Given the description of an element on the screen output the (x, y) to click on. 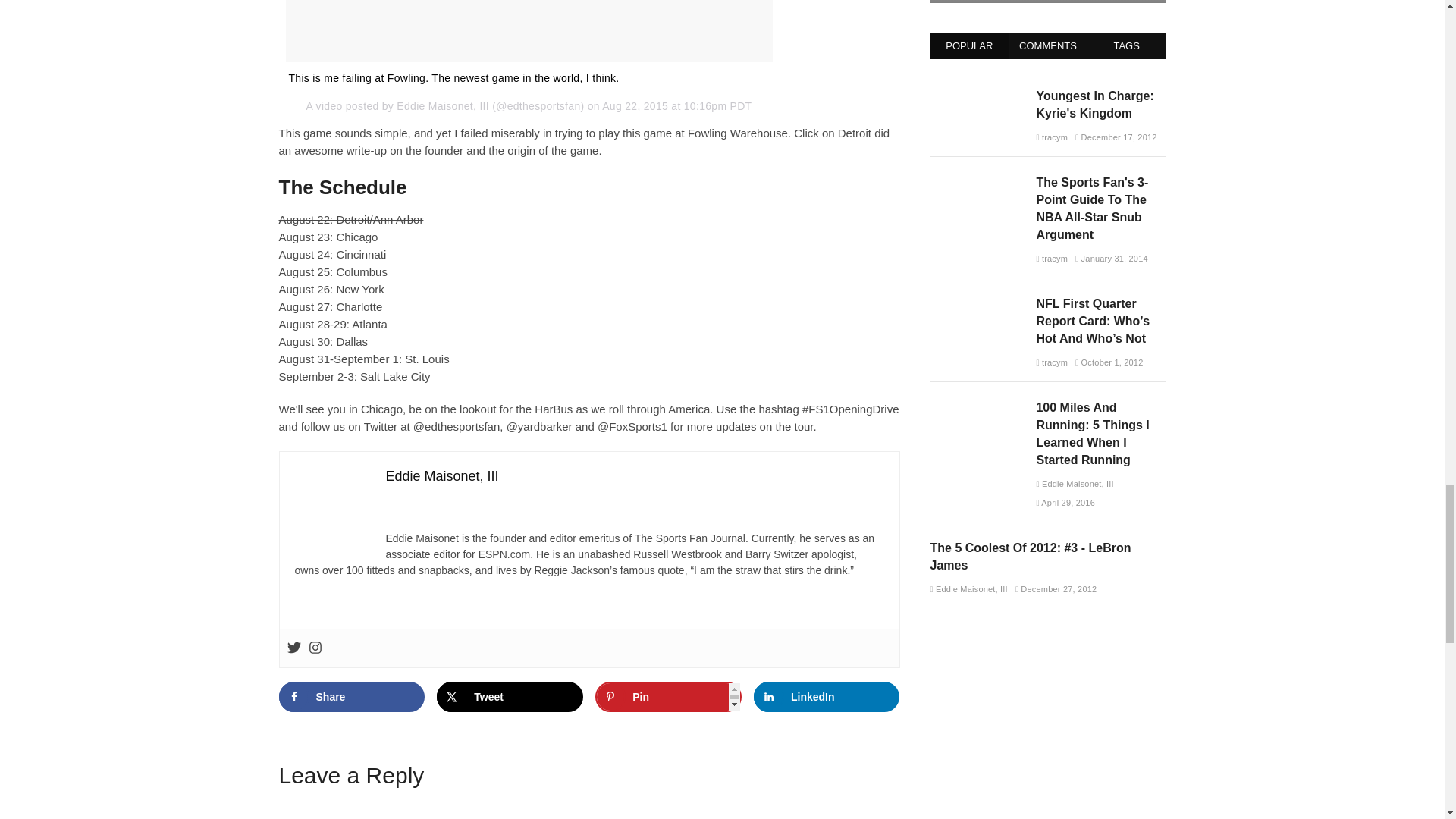
Share on LinkedIn (826, 696)
Share on Facebook (352, 696)
Save to Pinterest (668, 696)
Twitter (292, 648)
Share on X (509, 696)
Instagram (314, 648)
